Given the description of an element on the screen output the (x, y) to click on. 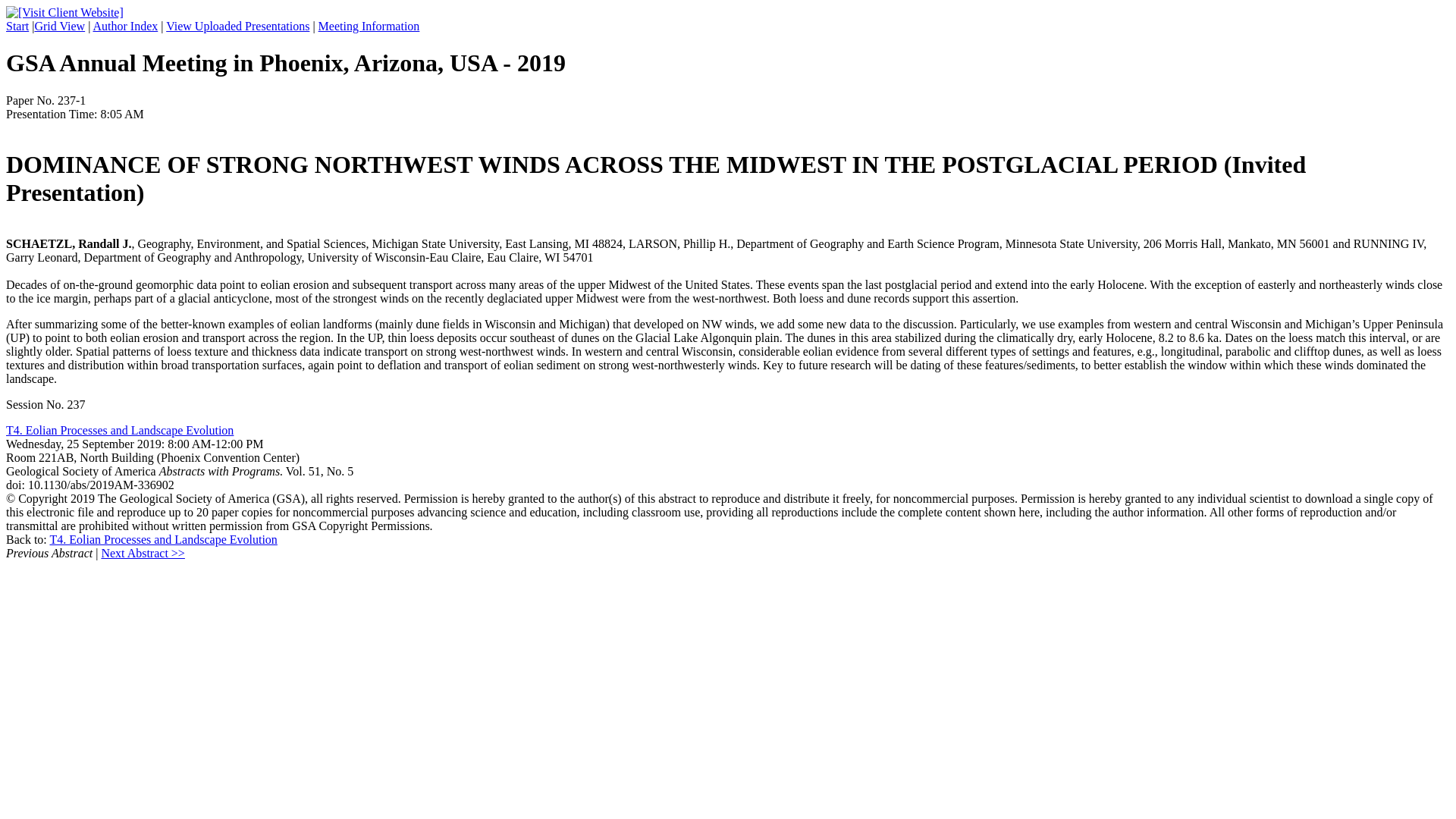
T4. Eolian Processes and Landscape Evolution (162, 539)
View Uploaded Presentations (236, 25)
Meeting Information (369, 25)
Grid View (58, 25)
T4. Eolian Processes and Landscape Evolution (118, 430)
Author Index (125, 25)
Start (17, 25)
